Given the description of an element on the screen output the (x, y) to click on. 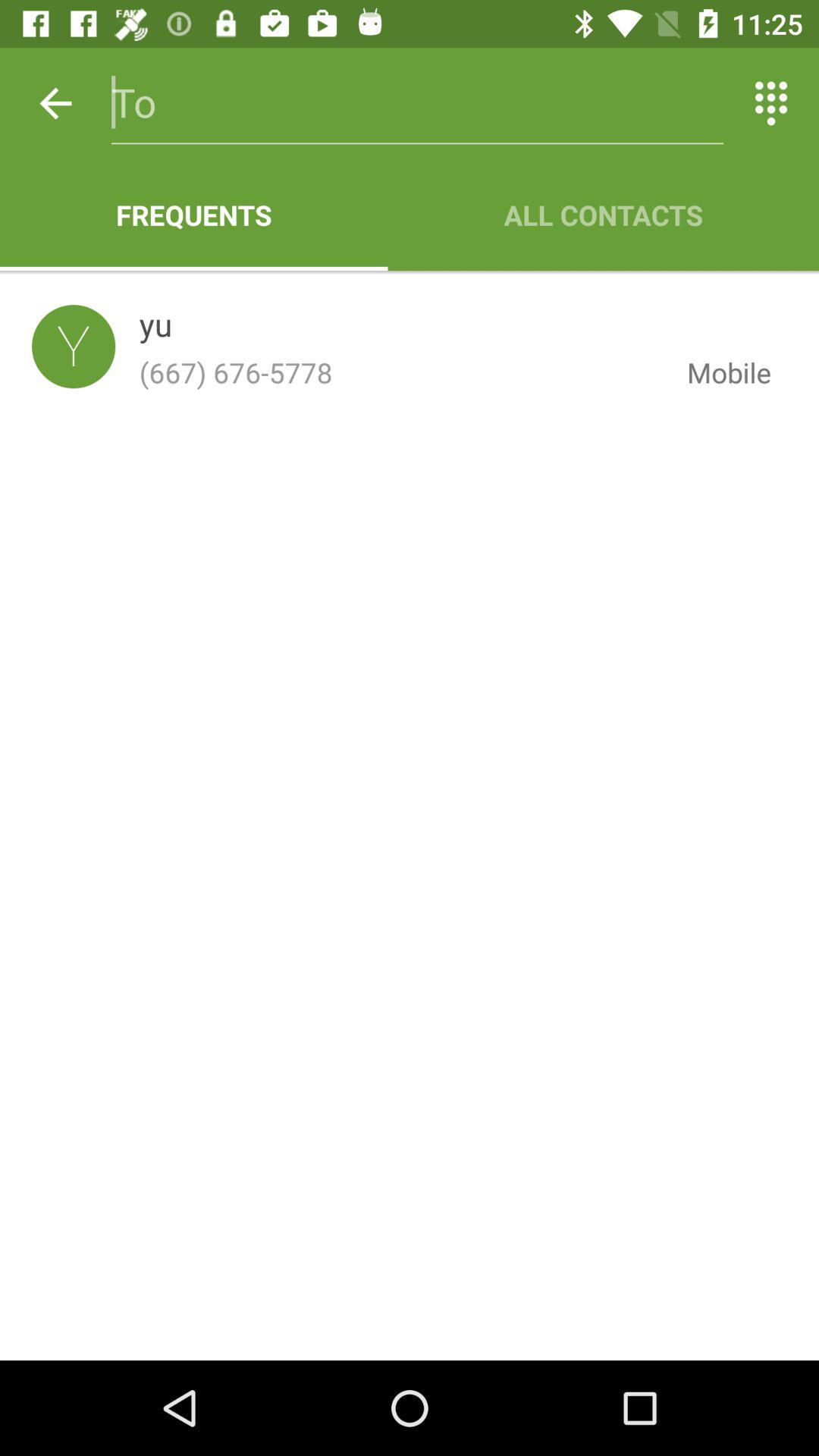
select item next to the yu icon (73, 346)
